Given the description of an element on the screen output the (x, y) to click on. 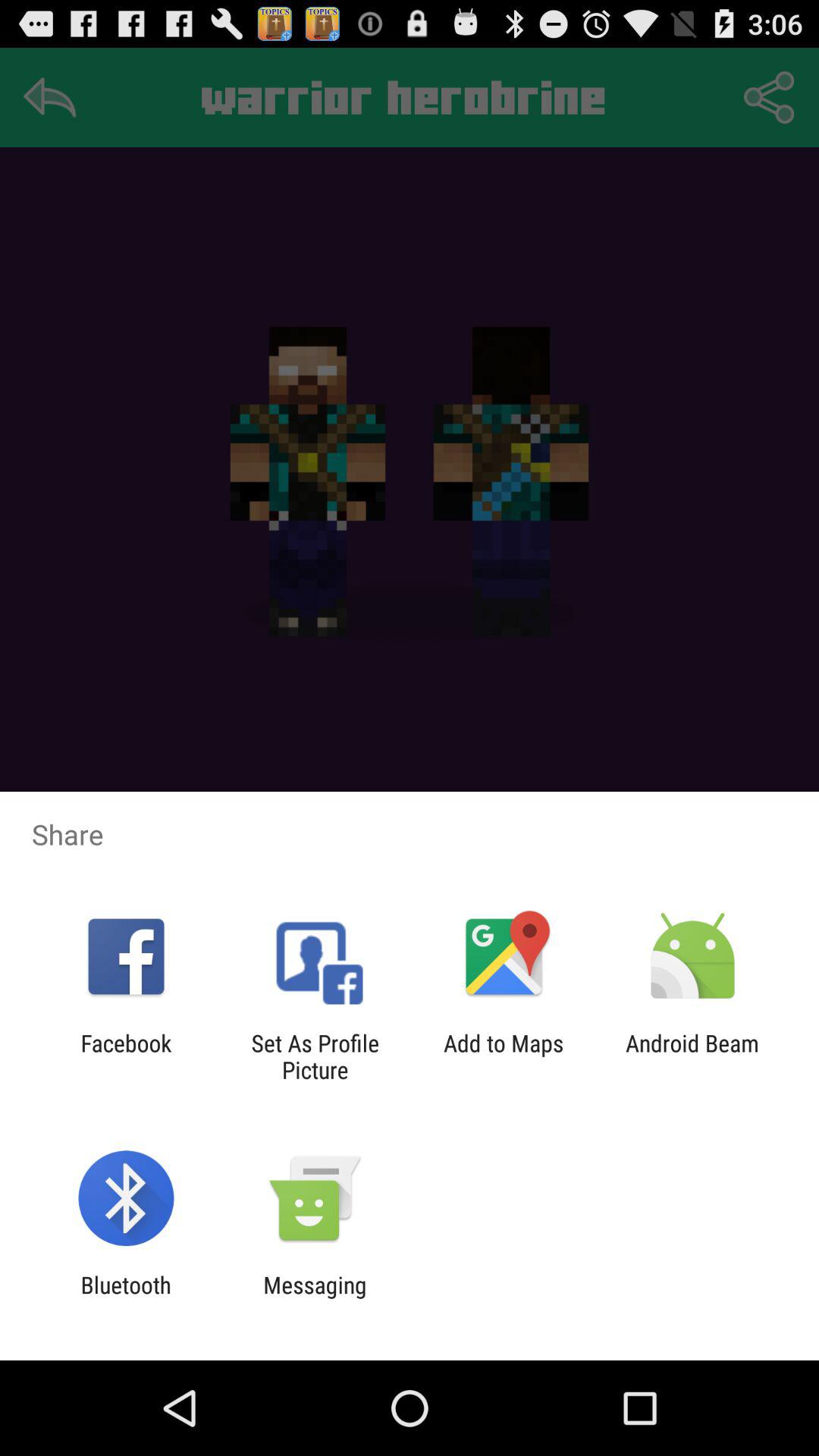
choose the messaging (314, 1298)
